Given the description of an element on the screen output the (x, y) to click on. 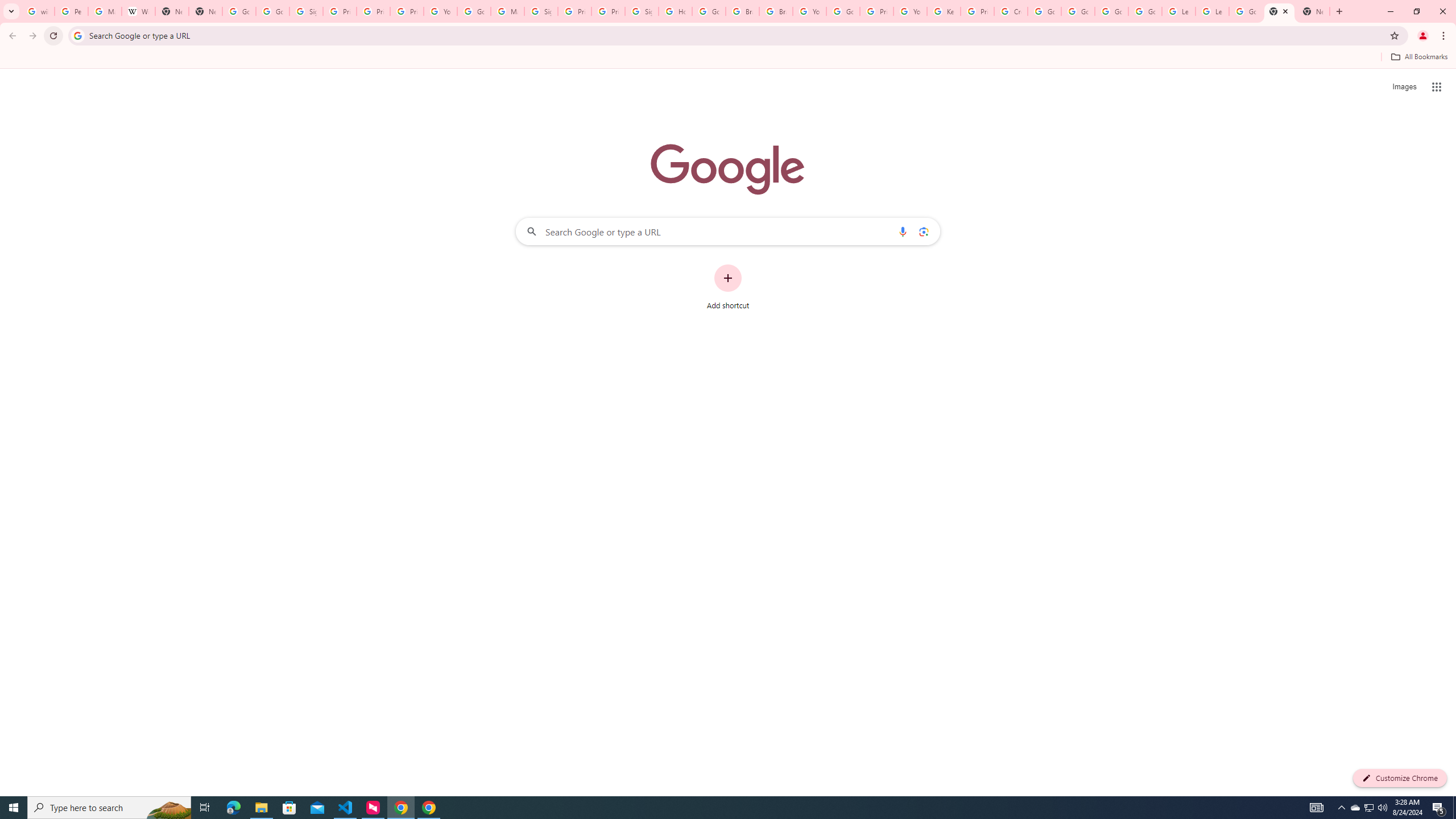
Manage your Location History - Google Search Help (104, 11)
Create your Google Account (1010, 11)
YouTube (909, 11)
Wikipedia:Edit requests - Wikipedia (138, 11)
New Tab (205, 11)
